Given the description of an element on the screen output the (x, y) to click on. 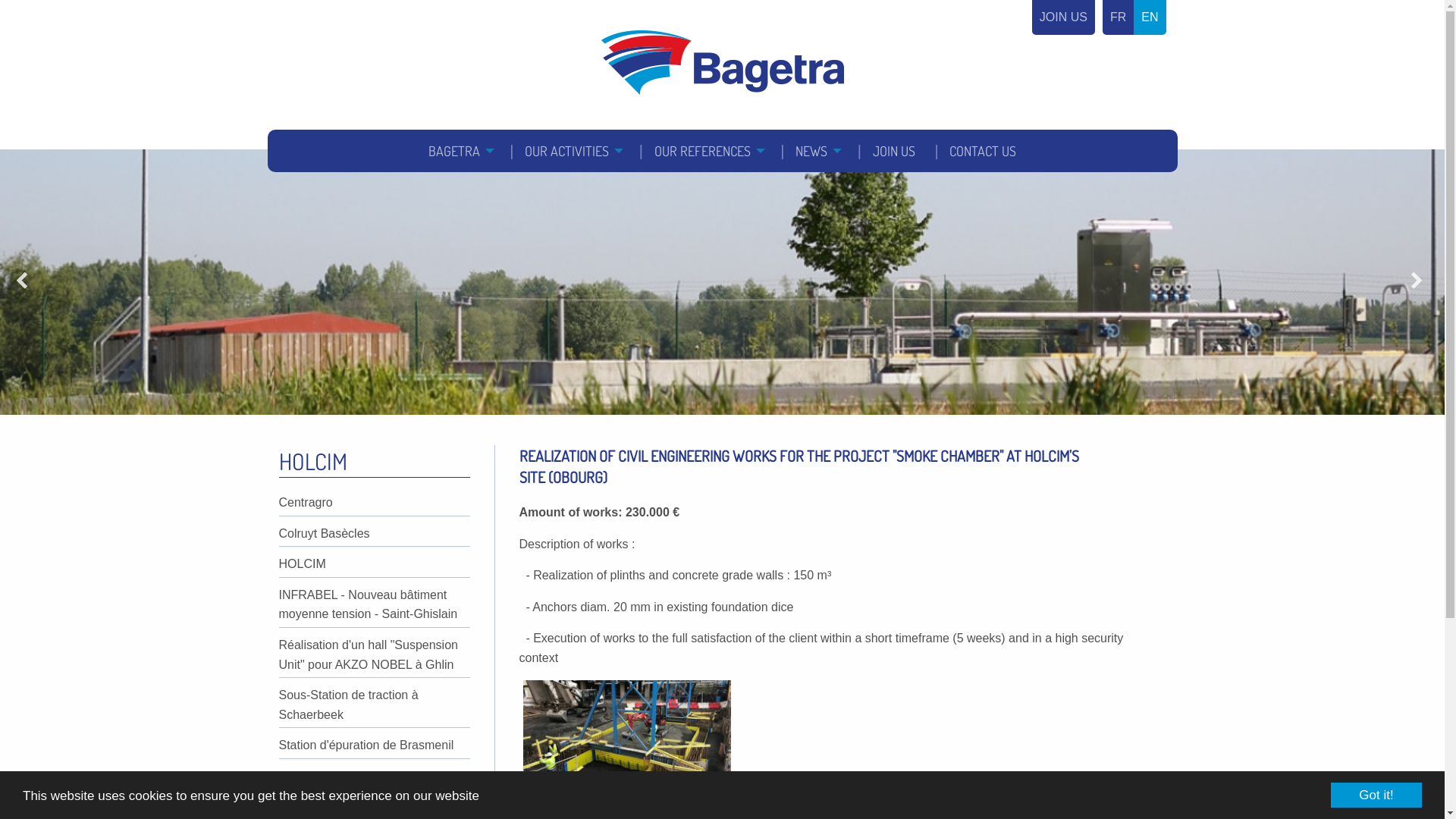
Skip to main content Element type: text (0, 0)
JOIN US Element type: text (1063, 17)
Home Element type: hover (721, 62)
FR Element type: text (1117, 17)
Got it! Element type: text (1375, 794)
Centragro Element type: text (305, 501)
CONTACT US Element type: text (982, 150)
OUR ACTIVITIES Element type: text (572, 150)
JOIN US Element type: text (893, 150)
EN Element type: text (1149, 17)
Previous Element type: text (24, 282)
NEWS Element type: text (816, 150)
BAGETRA Element type: text (459, 150)
Next Element type: text (1419, 282)
HOLCIM Element type: text (302, 563)
OUR REFERENCES Element type: text (707, 150)
